Given the description of an element on the screen output the (x, y) to click on. 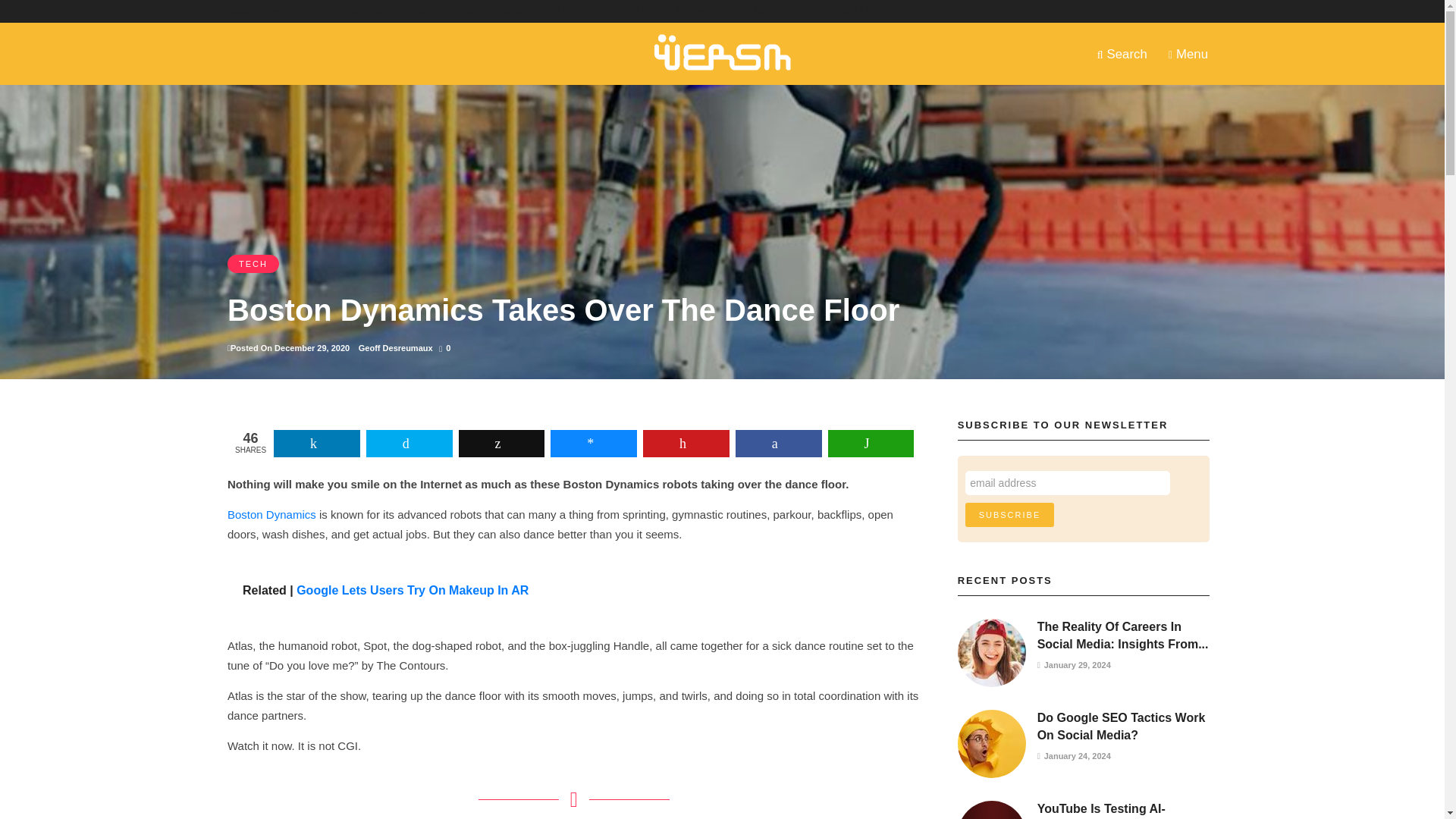
top-bar (565, 10)
Menu (1187, 53)
Share on - (871, 443)
top-bar (756, 10)
Share on - (501, 443)
Share on - (778, 443)
Share on - (409, 443)
Share on - (316, 443)
top-bar (361, 10)
top-bar (692, 10)
Share on - (593, 443)
top-bar (839, 10)
Subscribe (1009, 514)
top-bar (471, 10)
Geoff Desreumaux (395, 347)
